Given the description of an element on the screen output the (x, y) to click on. 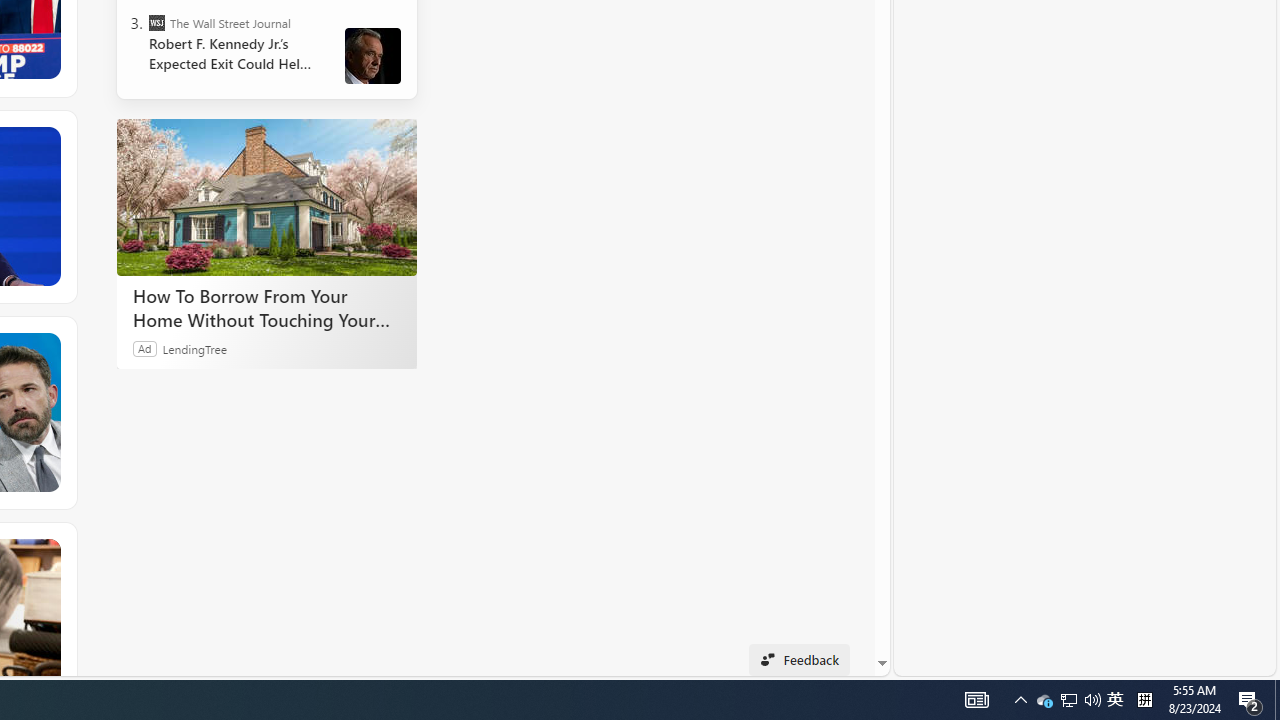
The Wall Street Journal (156, 22)
